Given the description of an element on the screen output the (x, y) to click on. 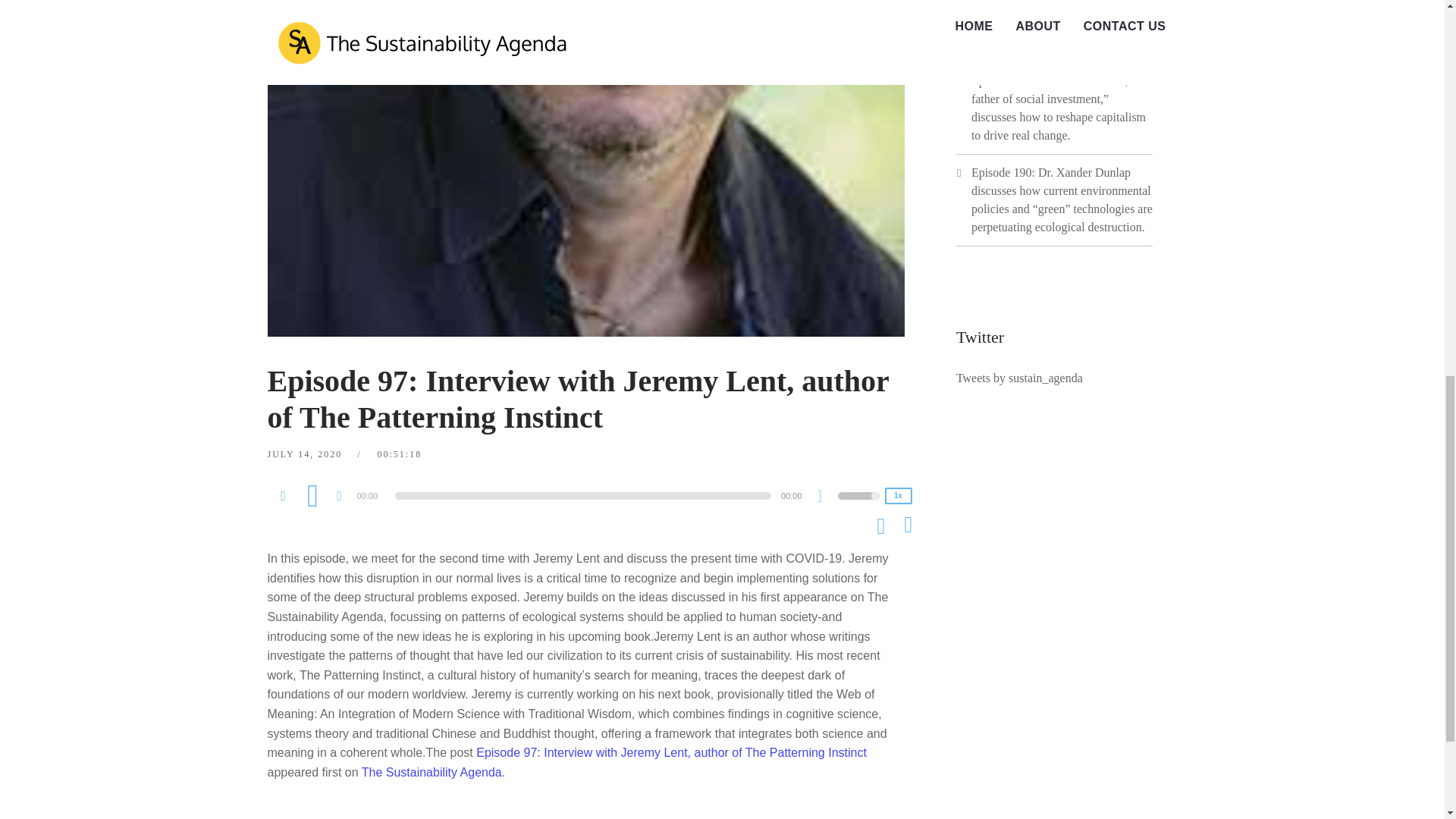
The Sustainability Agenda (431, 771)
Speed Rate (897, 495)
Play (312, 494)
Mute (824, 498)
1x (897, 495)
